Given the description of an element on the screen output the (x, y) to click on. 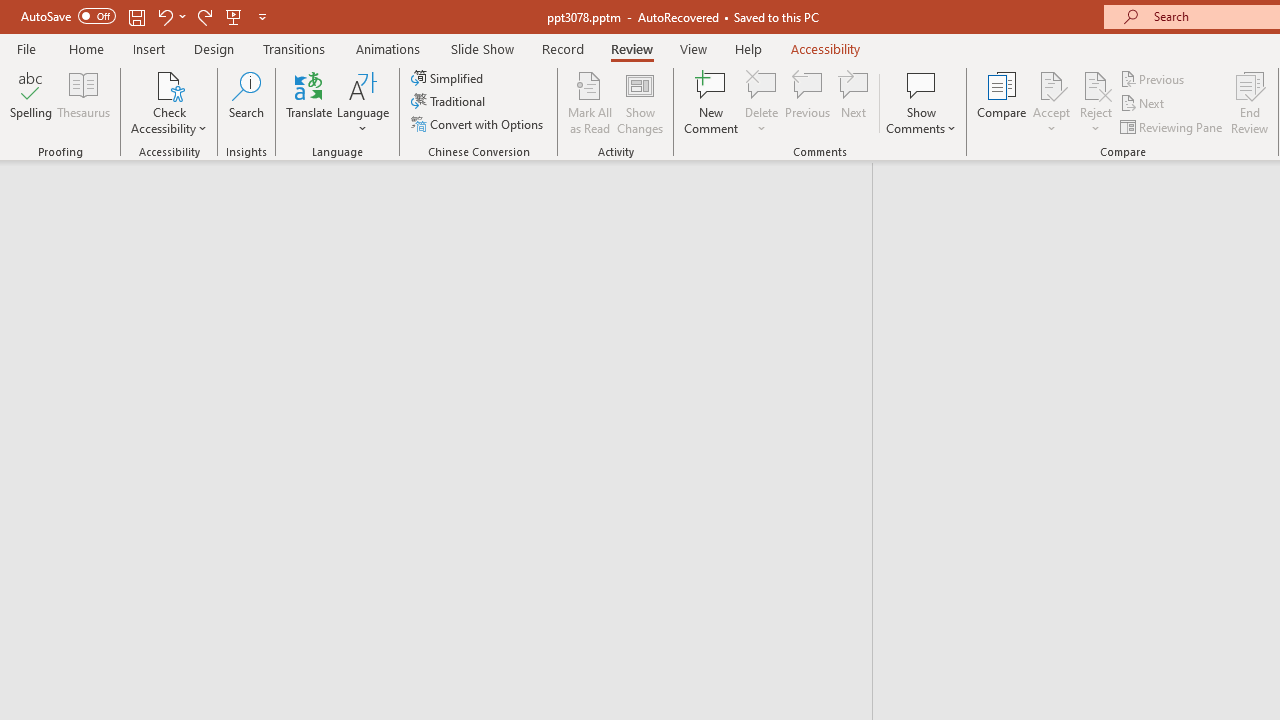
Traditional (449, 101)
Compare (1002, 102)
Show Comments (921, 84)
Show Comments (921, 102)
End Review (1249, 102)
Convert with Options... (479, 124)
Outline (445, 202)
Delete (762, 84)
